Given the description of an element on the screen output the (x, y) to click on. 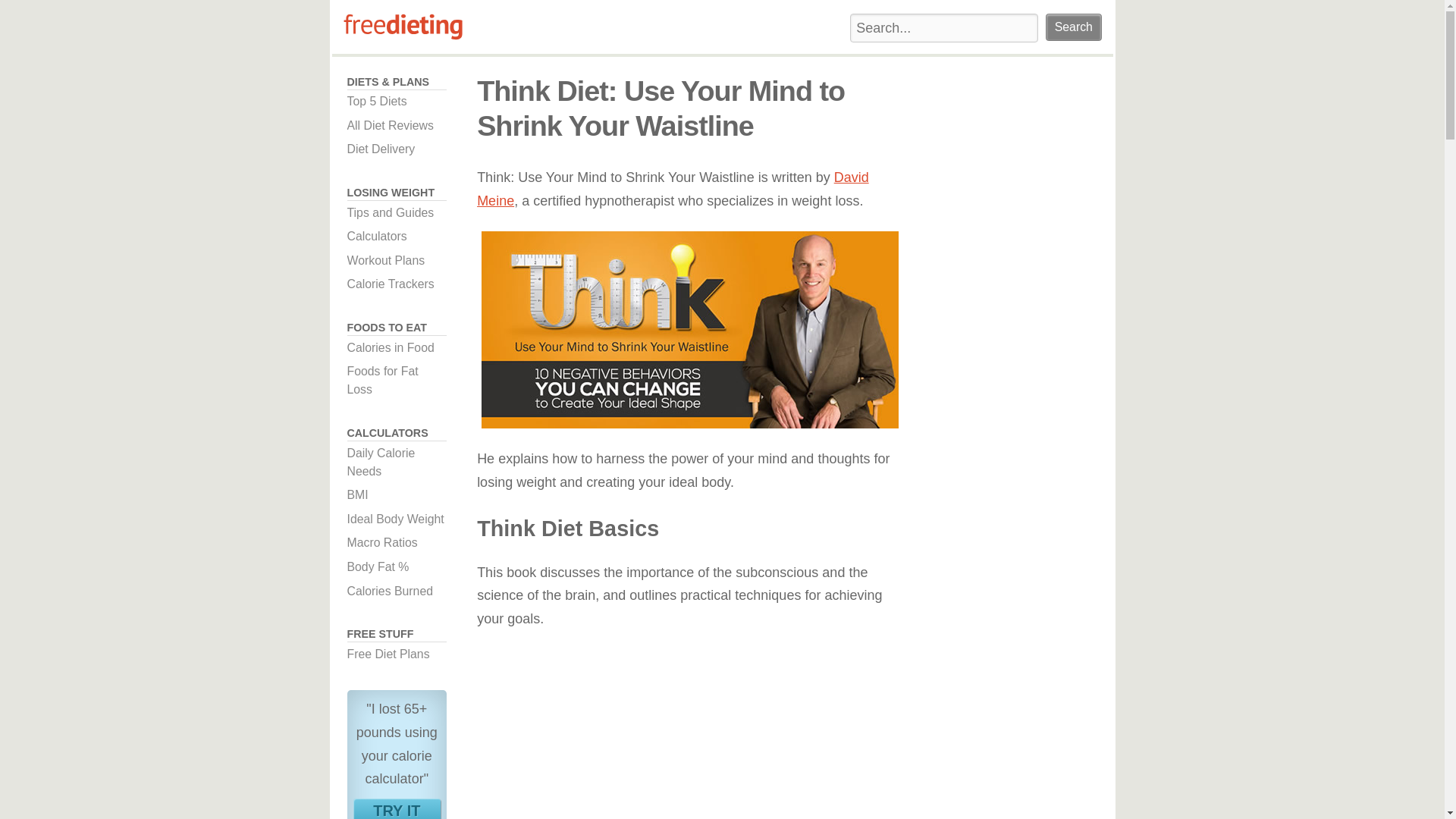
Free Diet Plans (397, 808)
All Diet Reviews (396, 654)
Calculators (396, 126)
Daily Calorie Needs (396, 236)
Calorie Trackers (396, 462)
Search (396, 284)
Calories Burned (1072, 26)
Diet Delivery (396, 591)
Foods for Fat Loss (396, 149)
Workout Plans (396, 380)
David Meine (396, 260)
Advertisement (673, 188)
Tips and Guides (689, 736)
BMI (396, 212)
